Given the description of an element on the screen output the (x, y) to click on. 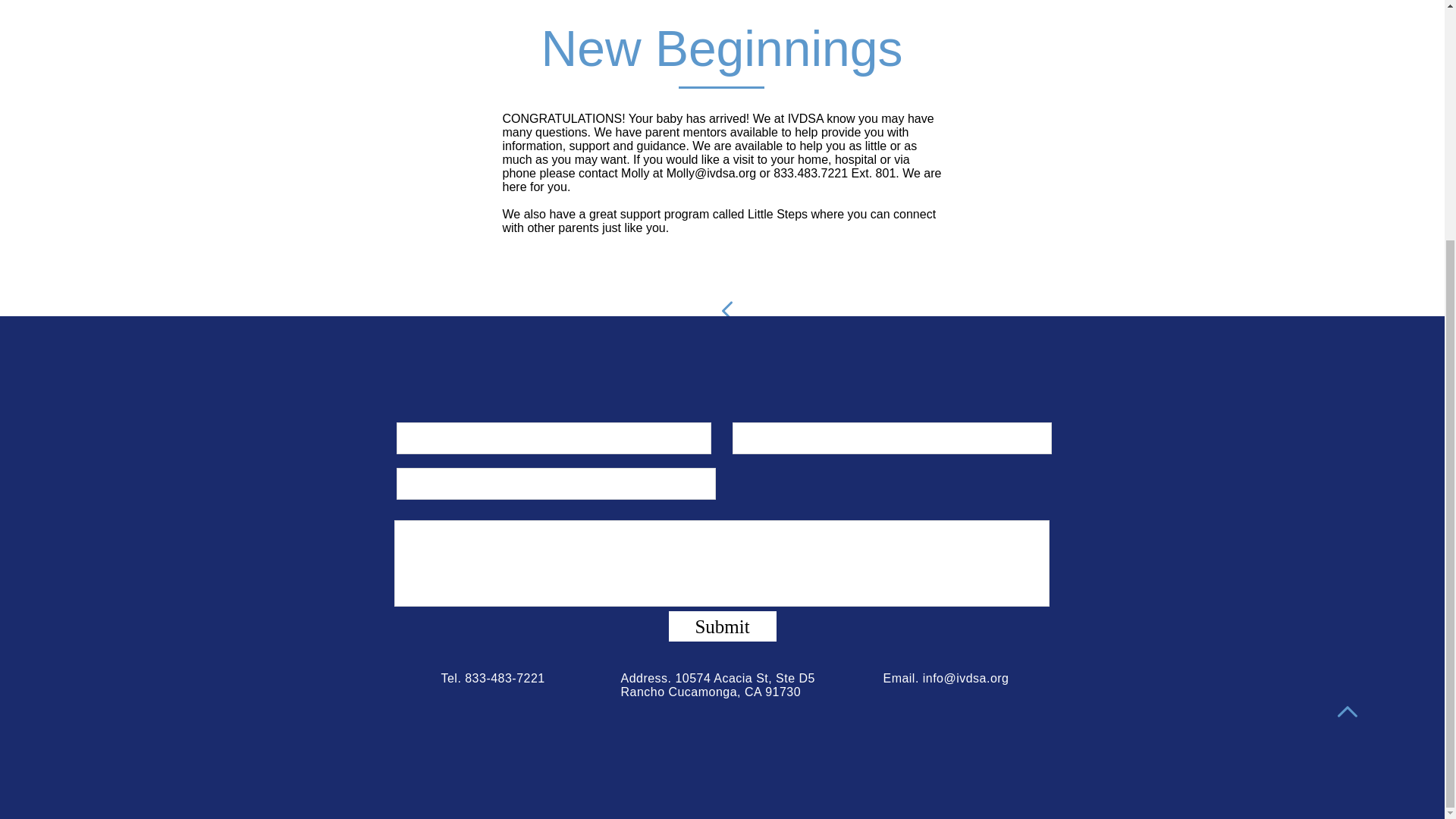
Submit (722, 625)
